Given the description of an element on the screen output the (x, y) to click on. 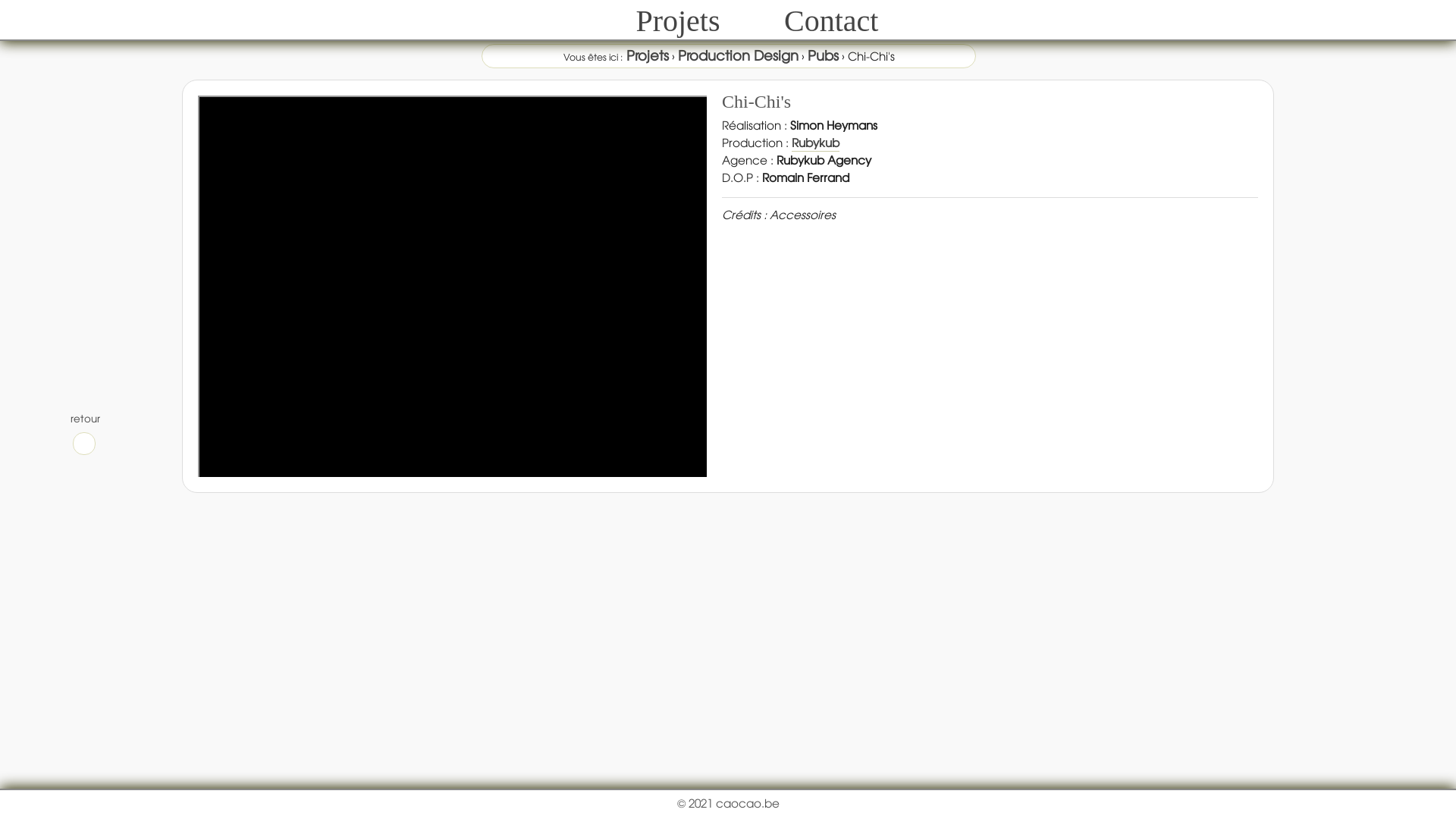
Projets Element type: text (647, 54)
Pubs Element type: text (821, 54)
retour Element type: text (83, 432)
Contact Element type: text (831, 20)
Rubykub Element type: text (815, 142)
Production Design Element type: text (737, 54)
Projets Element type: text (677, 20)
